Given the description of an element on the screen output the (x, y) to click on. 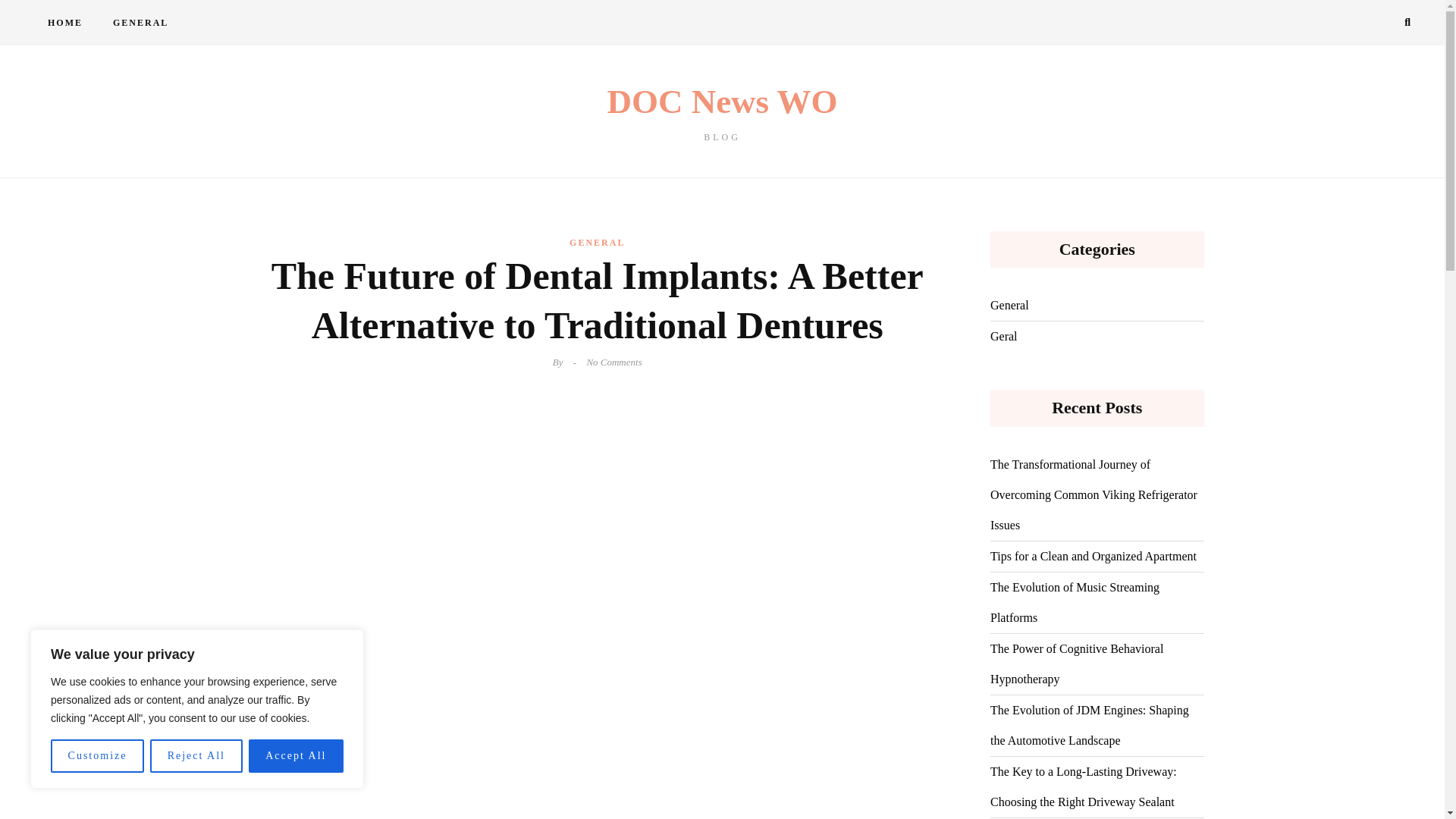
Reject All (196, 756)
Customize (97, 756)
GENERAL (596, 241)
HOME (64, 22)
GENERAL (140, 22)
Accept All (295, 756)
